Given the description of an element on the screen output the (x, y) to click on. 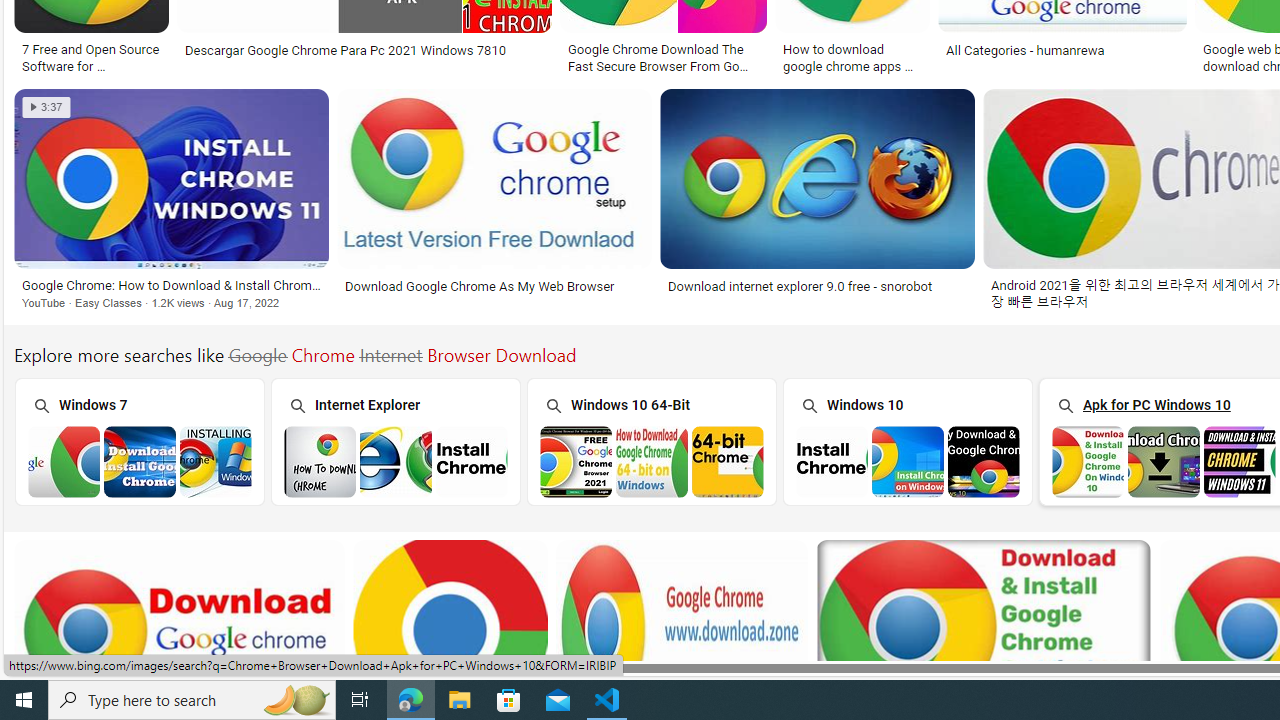
Windows 10 (907, 440)
Download internet explorer 9.0 free - snorobot (800, 286)
Image result for Google Chrome Internet Browser Download (817, 179)
Chrome Browser Download Windows 7 (140, 461)
3:37 (45, 107)
Descargar Google Chrome Para Pc 2021 Windows 7810 (364, 50)
